Given the description of an element on the screen output the (x, y) to click on. 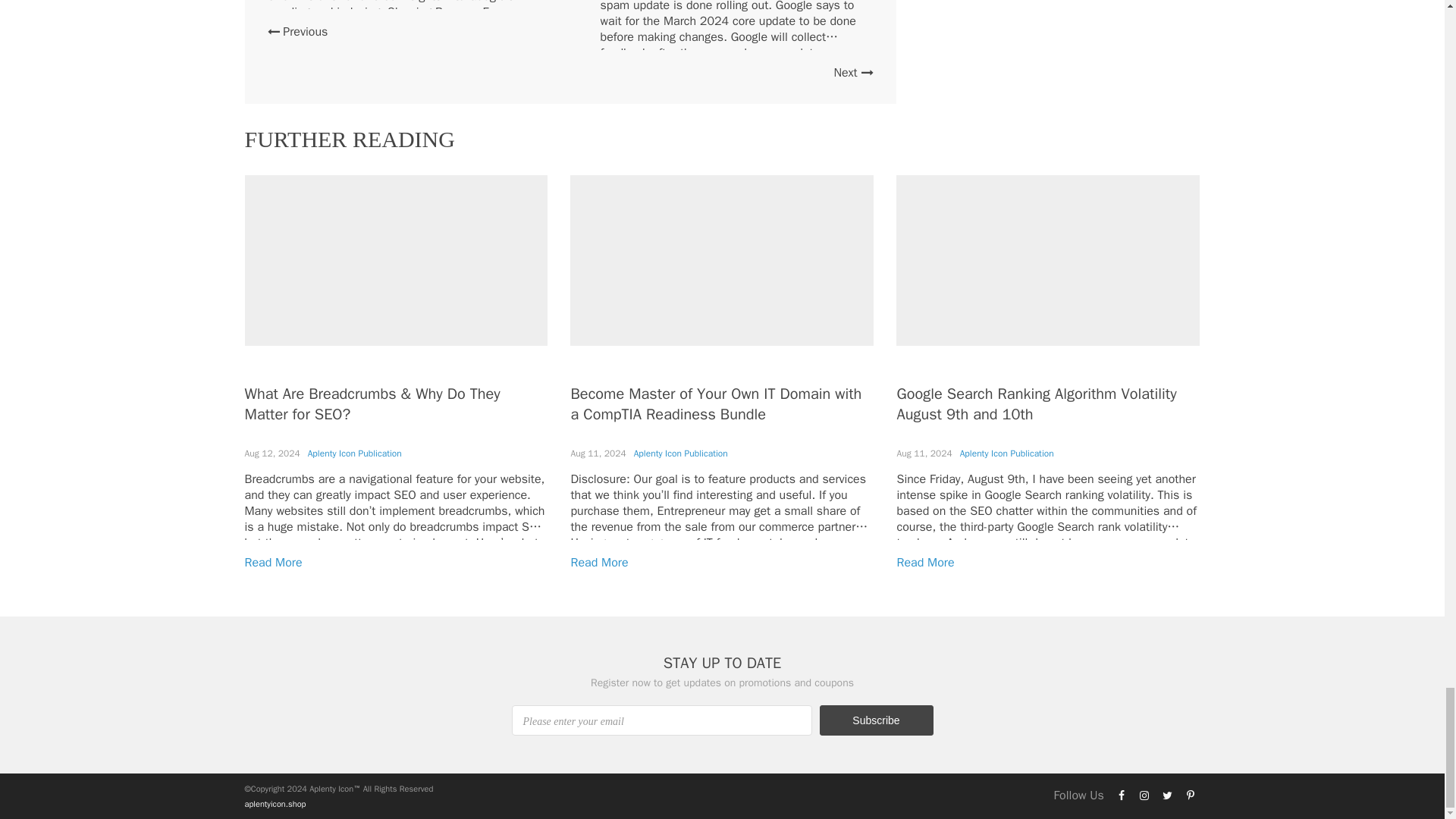
Next (852, 72)
Subscribe (875, 720)
Aplenty Icon Publication (354, 453)
Previous (296, 31)
